Given the description of an element on the screen output the (x, y) to click on. 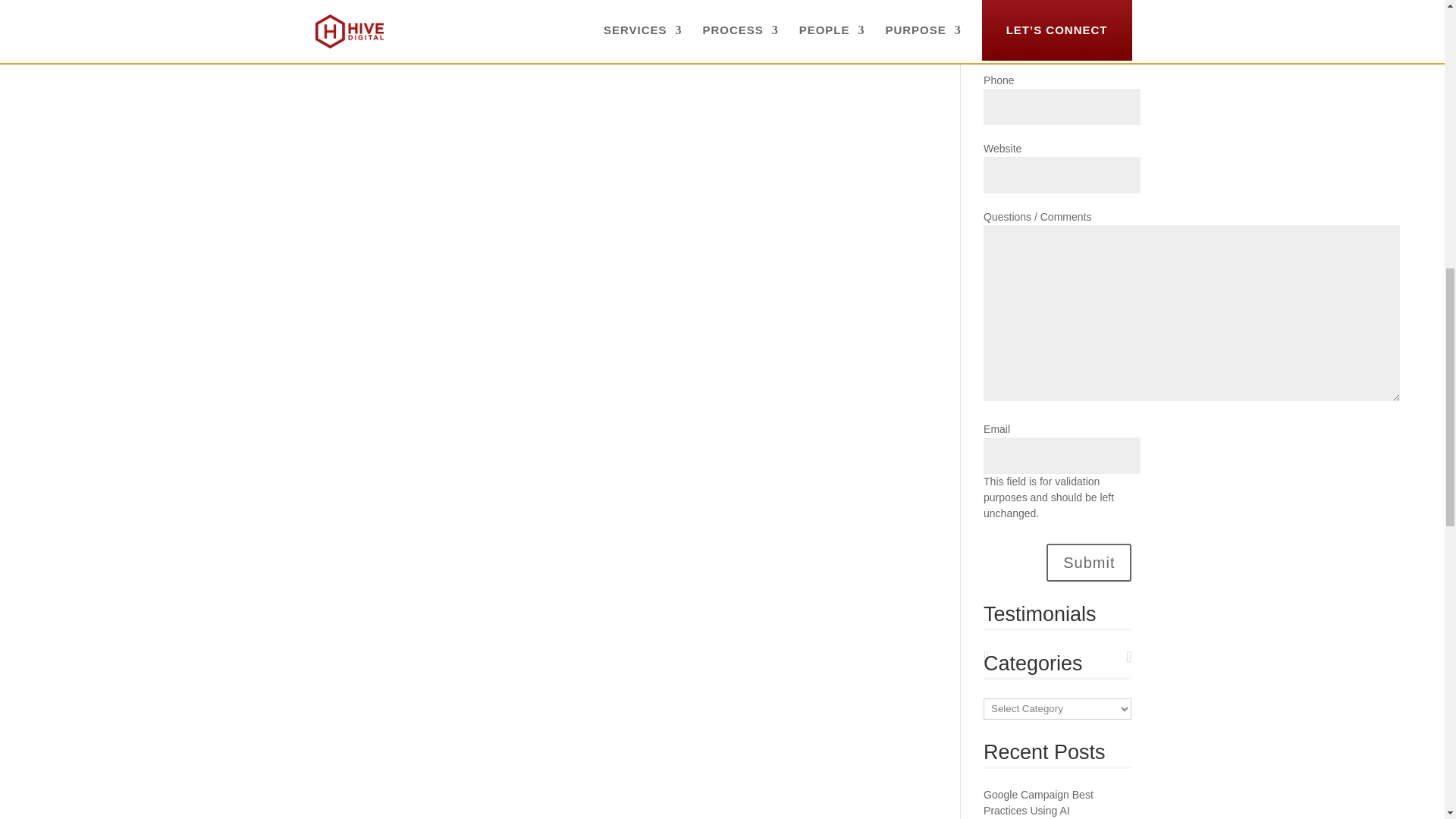
Google Campaign Best Practices Using AI (1038, 802)
Submit (1088, 562)
Submit (1088, 562)
